Given the description of an element on the screen output the (x, y) to click on. 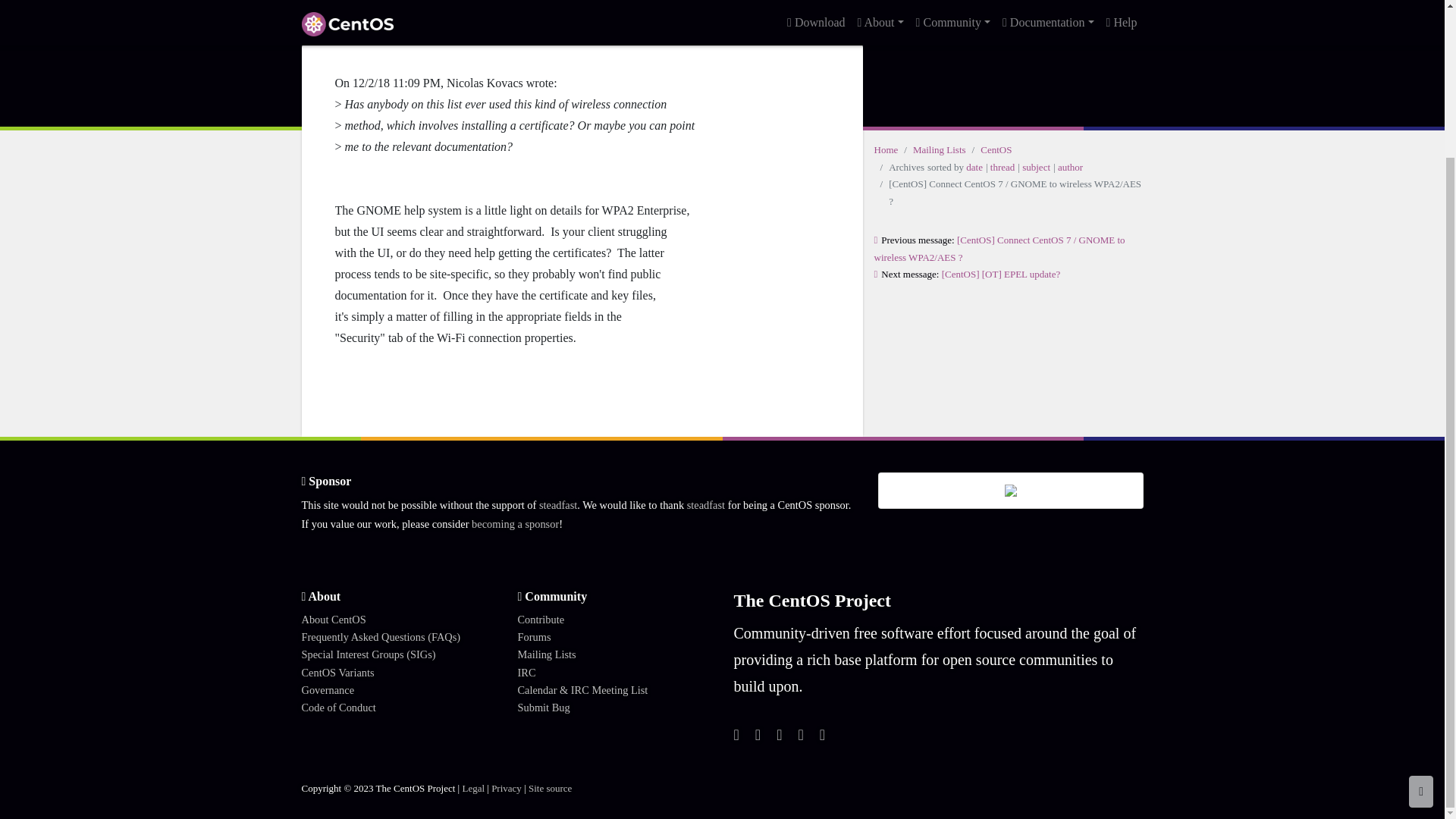
author (1070, 166)
Mailing Lists (939, 149)
Home (885, 149)
About CentOS (333, 619)
CentOS (995, 149)
CentOS Variants (337, 672)
date (974, 166)
subject (1035, 166)
becoming a sponsor (515, 523)
thread (1002, 166)
